Given the description of an element on the screen output the (x, y) to click on. 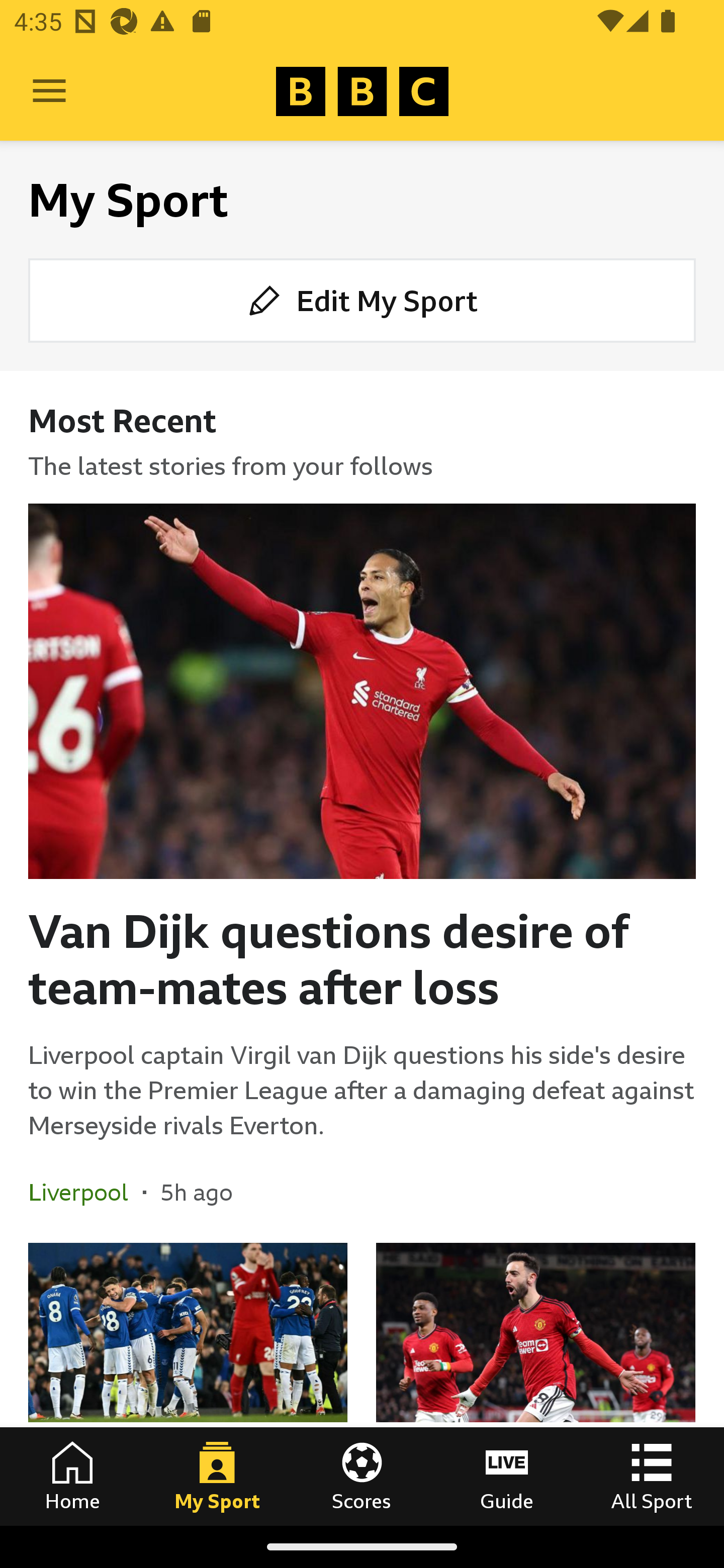
Open Menu (49, 91)
Edit My Sport (361, 300)
Liverpool In the section Liverpool (85, 1192)
Man Utd fight back twice to beat Sheff Utd late on (535, 1384)
Home (72, 1475)
Scores (361, 1475)
Guide (506, 1475)
All Sport (651, 1475)
